Given the description of an element on the screen output the (x, y) to click on. 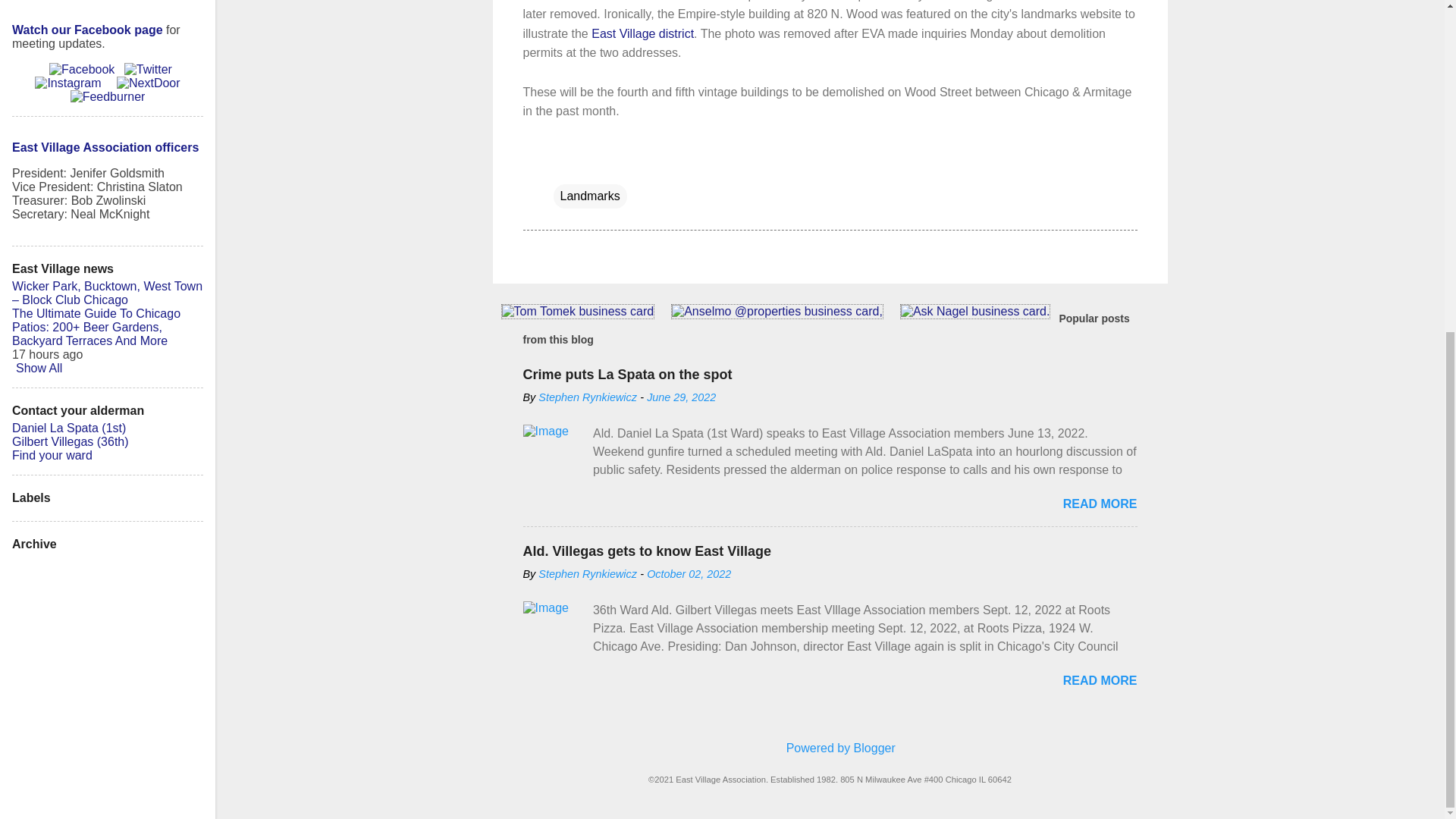
Crime puts La Spata on the spot (627, 374)
East Village district (642, 33)
Stephen Rynkiewicz (587, 397)
READ MORE (1099, 503)
October 02, 2022 (688, 573)
READ MORE (1099, 680)
Ald. Villegas gets to know East Village (646, 550)
East Village Association officers (104, 146)
June 29, 2022 (681, 397)
Watch our Facebook page (87, 29)
Stephen Rynkiewicz (587, 573)
Powered by Blogger (829, 748)
Email Post (562, 164)
Landmarks (590, 196)
